Given the description of an element on the screen output the (x, y) to click on. 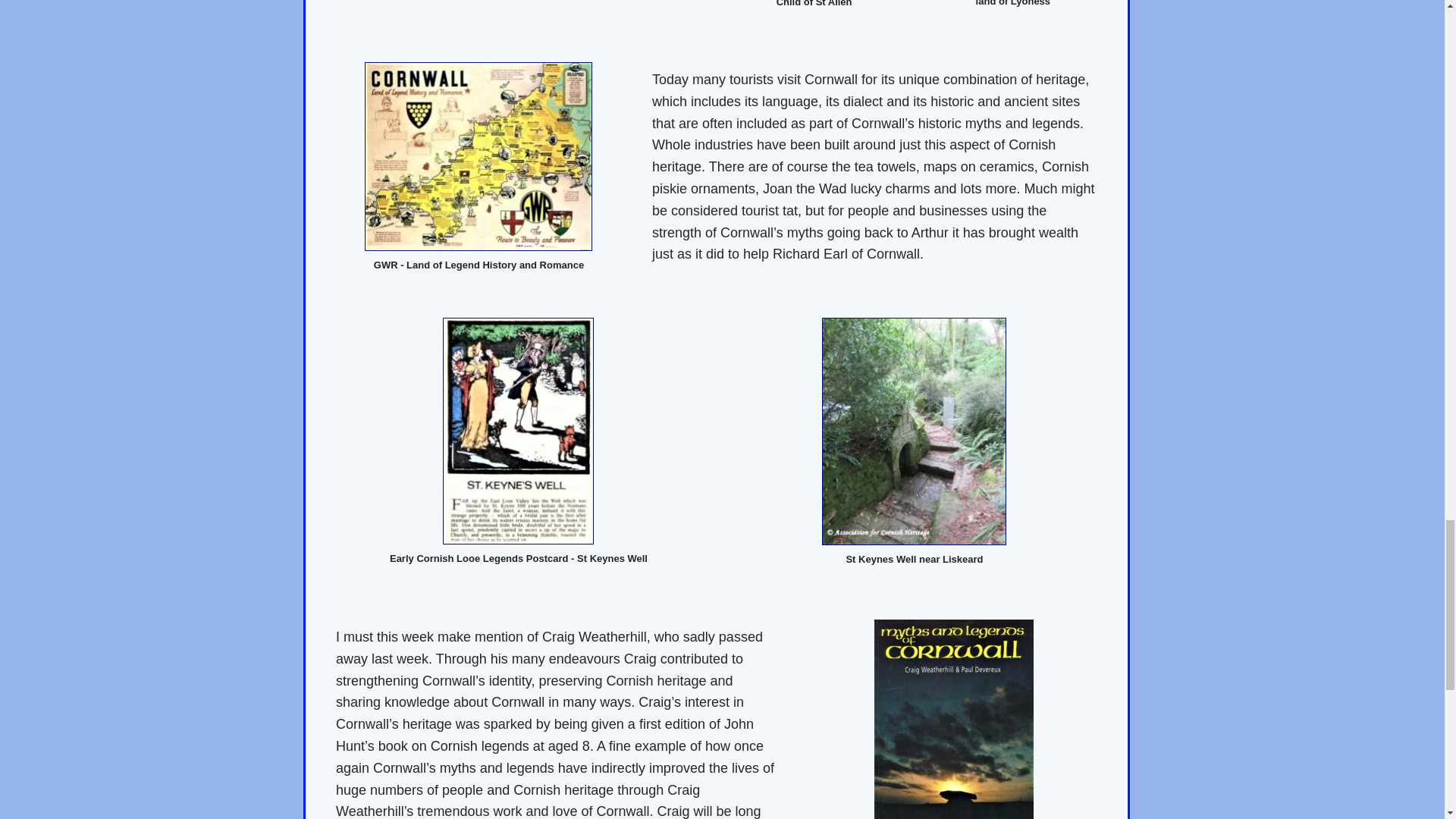
EARLY CORNISH LOOE LEGENDS POSTCARDS - St Keynes Well (518, 430)
GWR - Land of Legend History and Romance (478, 156)
St Keynes Well near Liskeard (914, 431)
